Given the description of an element on the screen output the (x, y) to click on. 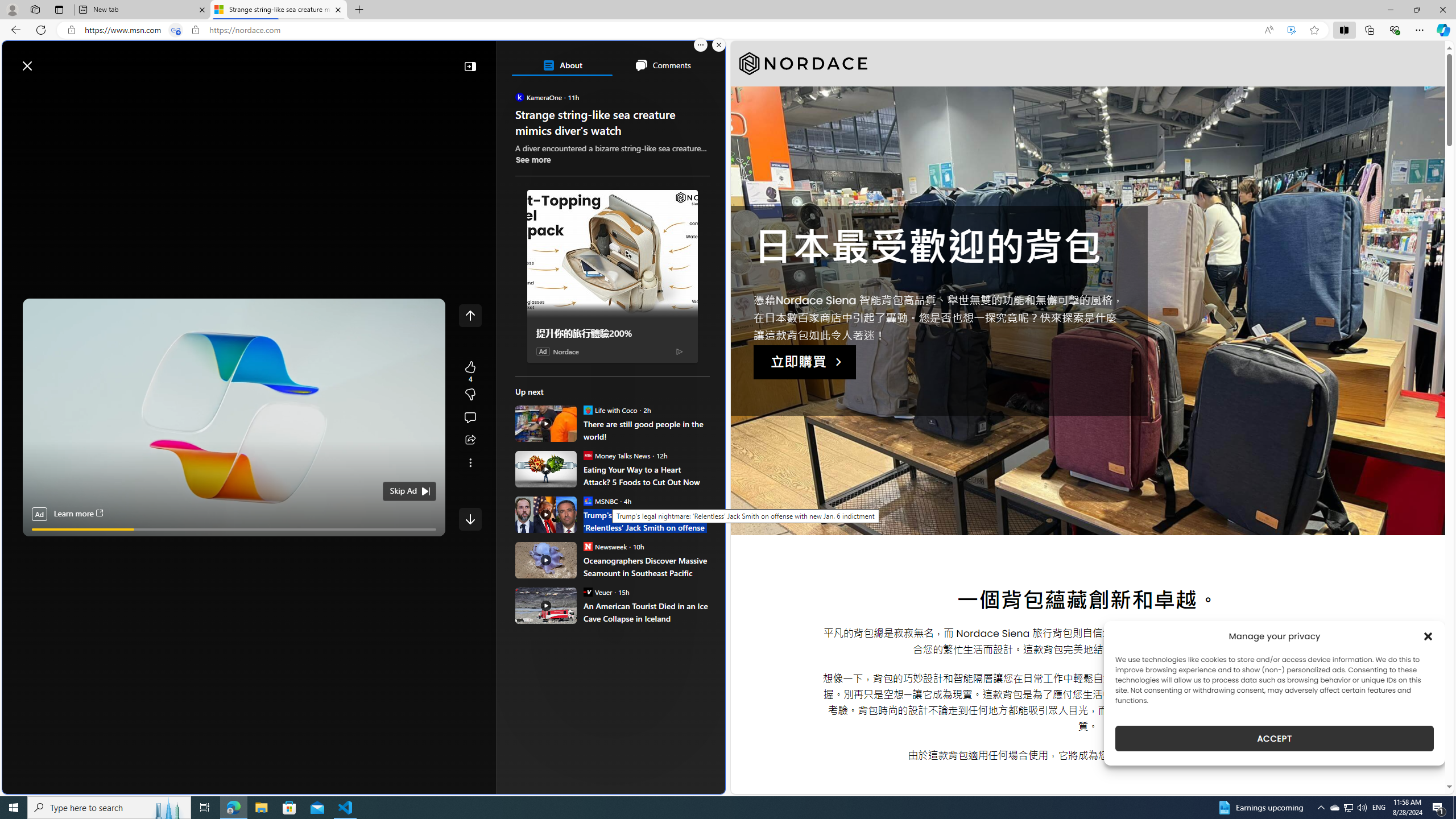
Class: button-glyph (16, 92)
Start the conversation (469, 417)
Open Copilot (565, 59)
MSNBC (587, 500)
Comments (662, 64)
Open Copilot (566, 59)
Read aloud this page (Ctrl+Shift+U) (1268, 29)
Address and search bar (669, 29)
Learn more (77, 513)
More options. (700, 45)
Dislike (469, 394)
Pause (38, 542)
More like this4Fewer like thisStart the conversation (469, 394)
